Given the description of an element on the screen output the (x, y) to click on. 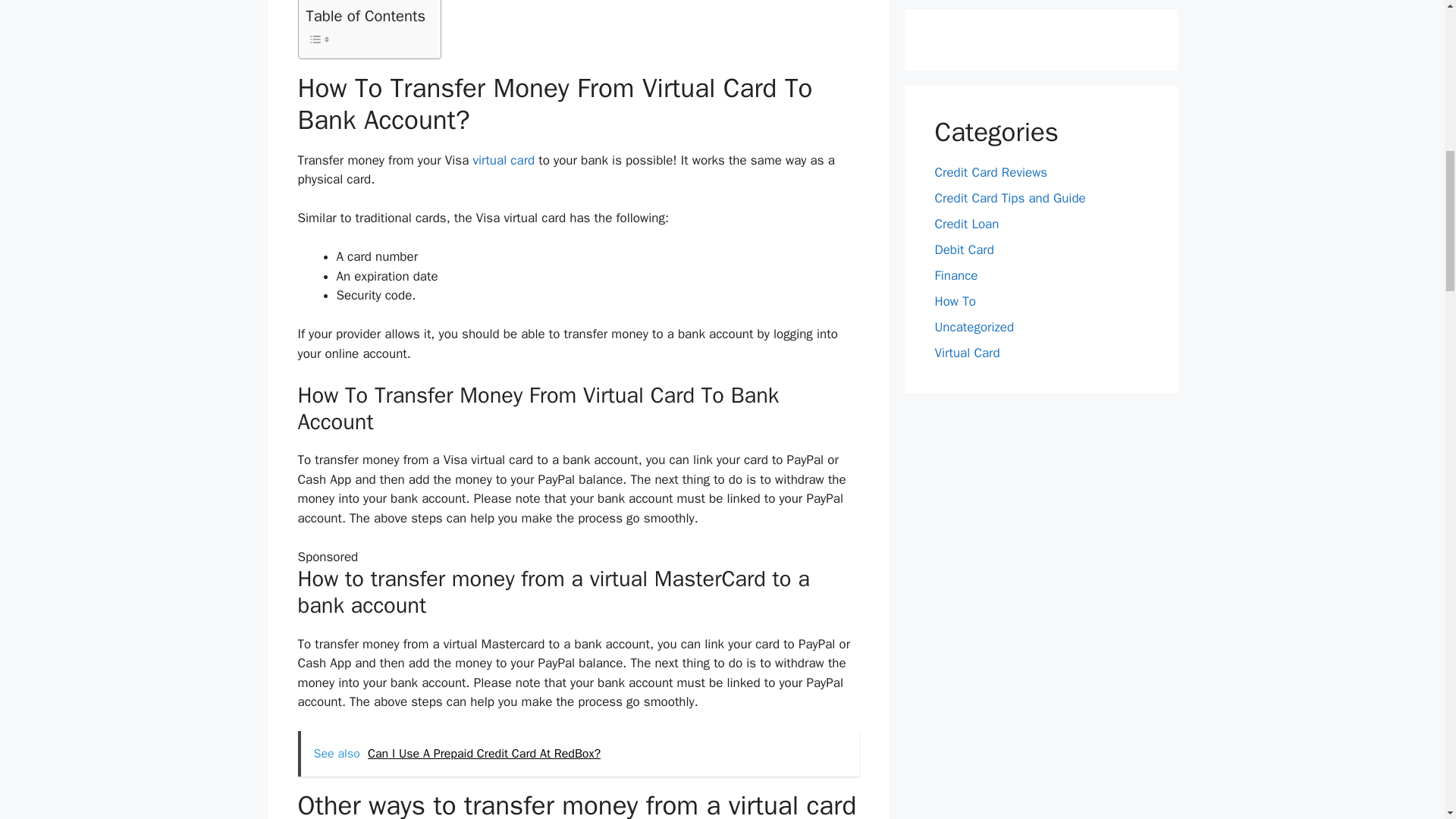
virtual card (502, 160)
See also  Can I Use A Prepaid Credit Card At RedBox? (578, 753)
